Given the description of an element on the screen output the (x, y) to click on. 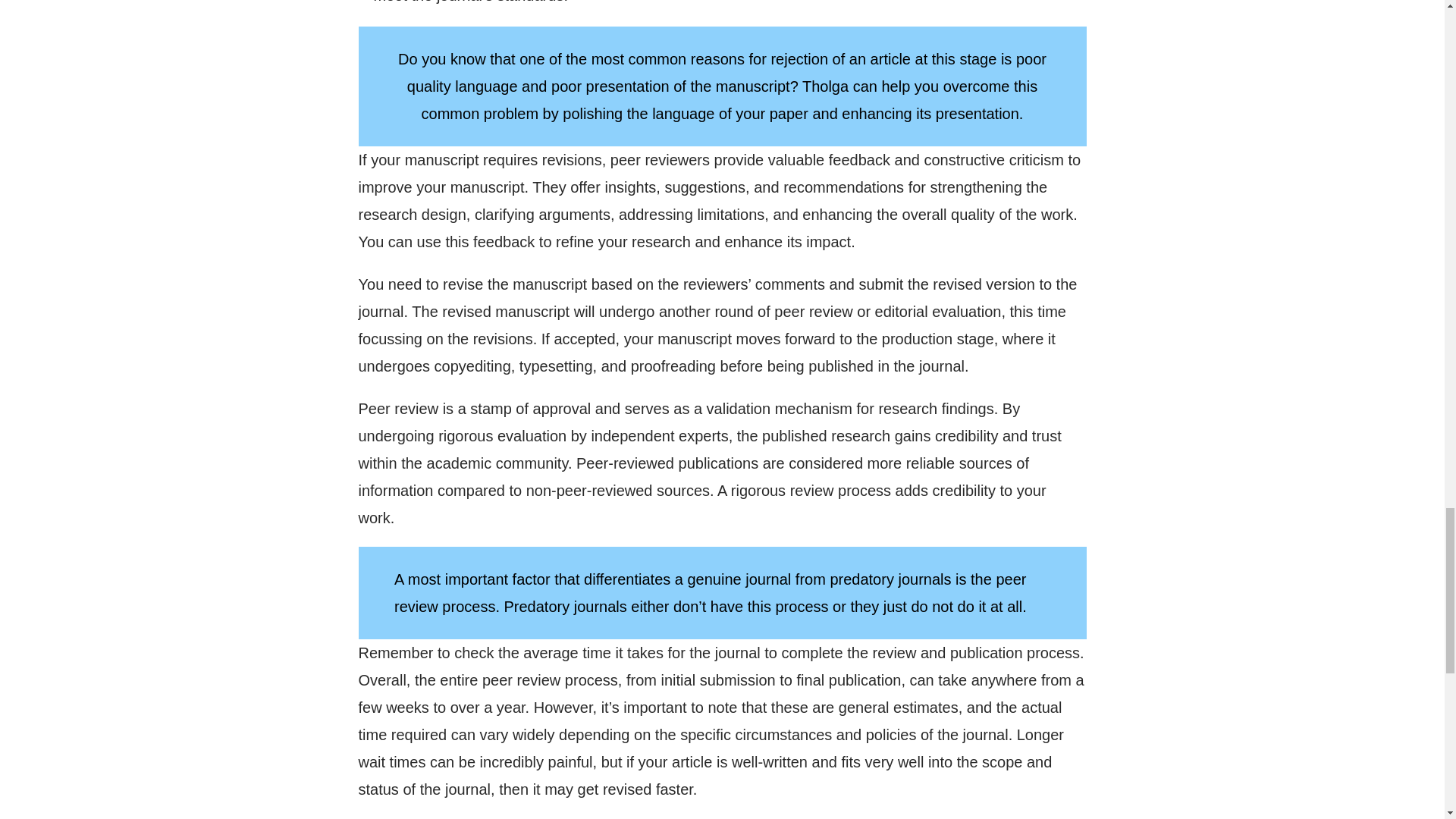
predatory journals (889, 579)
